Given the description of an element on the screen output the (x, y) to click on. 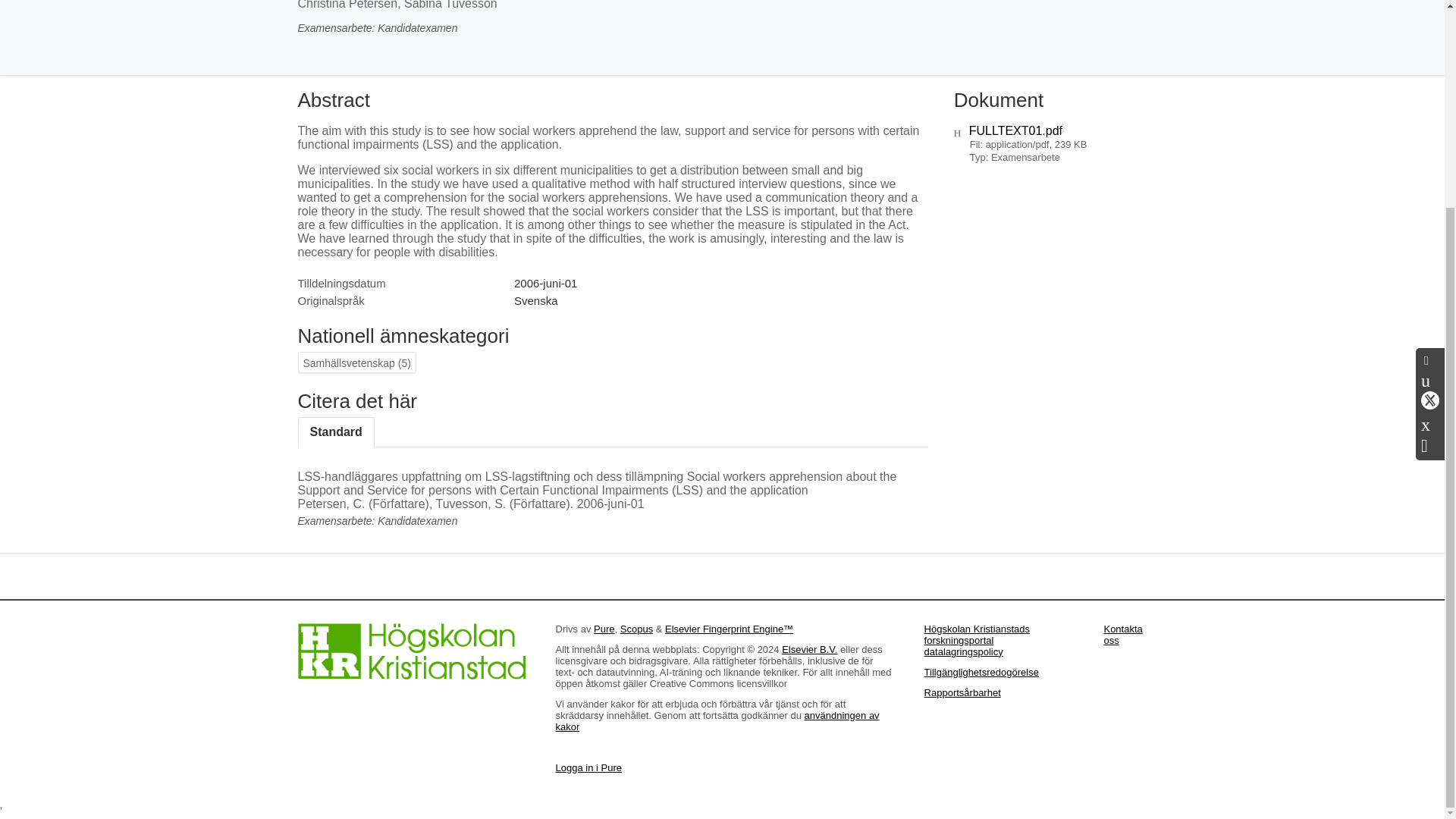
Scopus (636, 628)
Logga in i Pure (587, 767)
FULLTEXT01.pdf (1015, 130)
Pure (604, 628)
Kontakta oss (1122, 634)
Elsevier B.V. (809, 649)
